Given the description of an element on the screen output the (x, y) to click on. 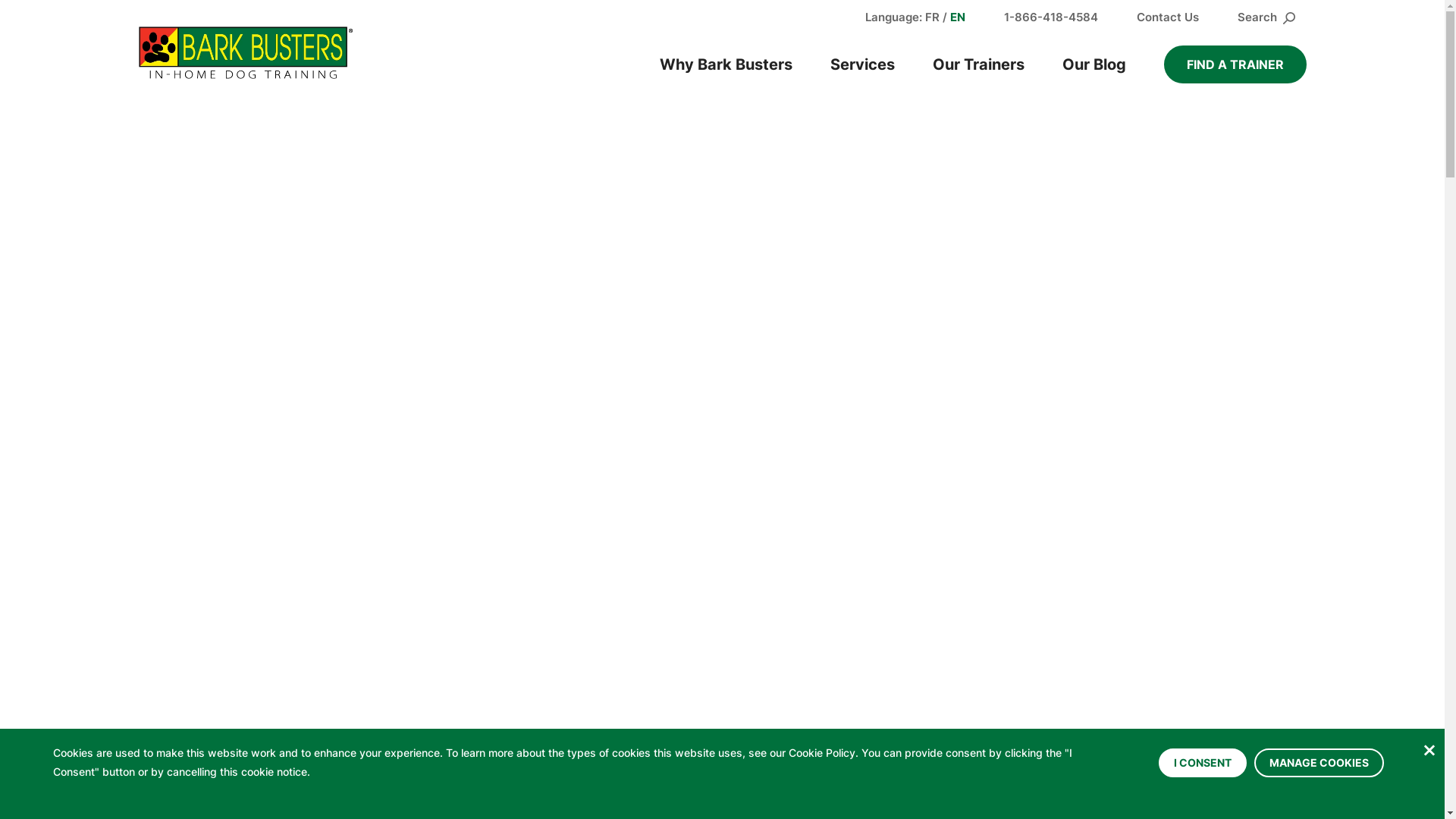
Contact Us Element type: text (1166, 16)
Our Trainers Element type: text (977, 64)
FIND A TRAINER Element type: text (1234, 64)
1-866-418-4584 Element type: text (1051, 16)
Our Blog Element type: text (1094, 64)
Skip to Main Content Element type: text (0, 0)
Services Element type: text (862, 64)
FR Element type: text (932, 16)
EN Element type: text (956, 16)
Why Bark Busters Element type: text (725, 64)
Search  
Link to search page Element type: text (1266, 16)
MANAGE COOKIES Element type: text (1318, 761)
I CONSENT Element type: text (1202, 761)
